Given the description of an element on the screen output the (x, y) to click on. 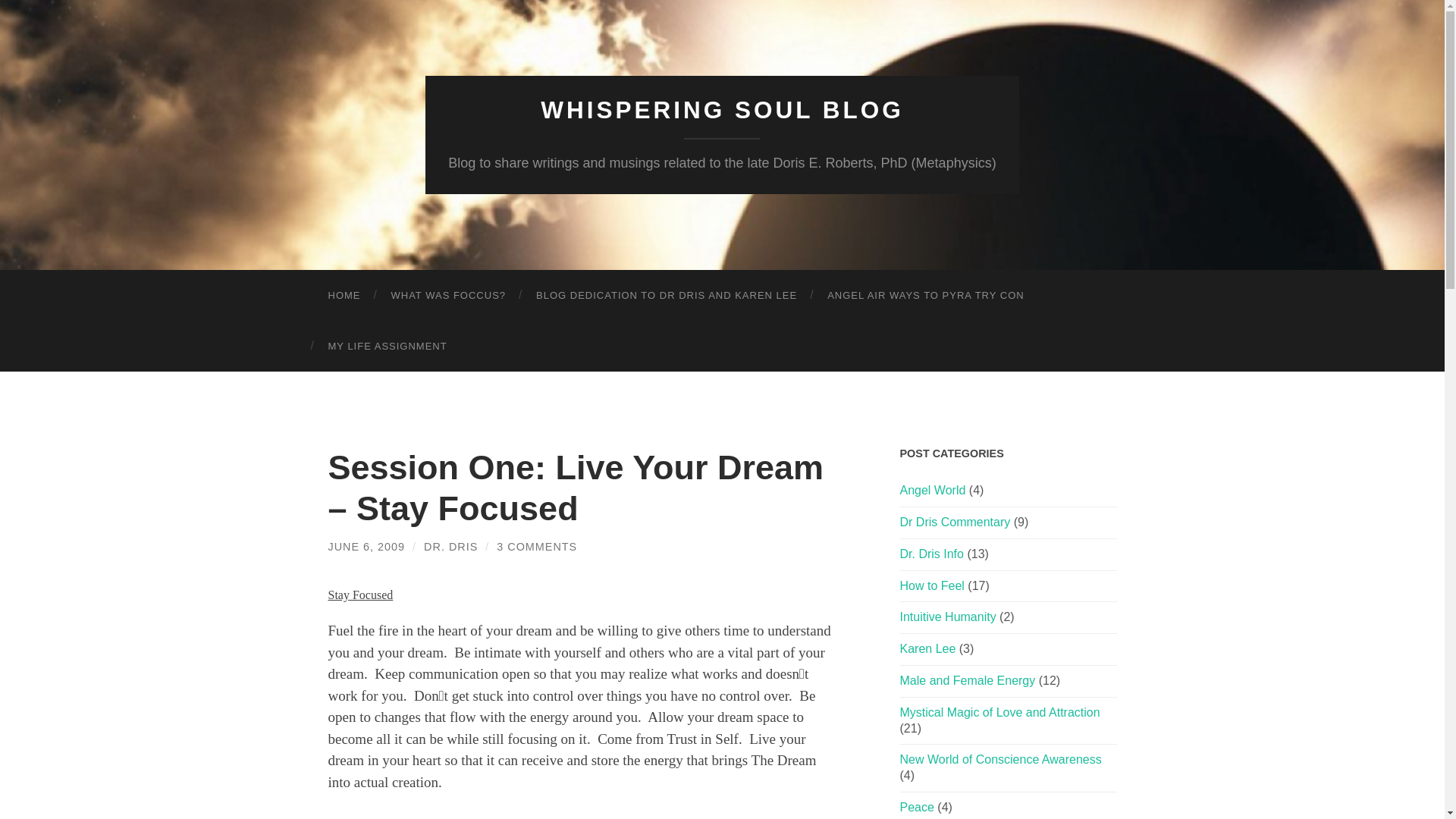
Dr Dris Commentary (954, 521)
DR. DRIS (450, 546)
ANGEL AIR WAYS TO PYRA TRY CON (925, 295)
Karen Lee (927, 648)
WHISPERING SOUL BLOG (721, 109)
Mystical Magic of Love and Attraction (999, 712)
HOME (344, 295)
BLOG DEDICATION TO DR DRIS AND KAREN LEE (666, 295)
Intuitive Humanity (947, 616)
WHAT WAS FOCCUS? (448, 295)
